Given the description of an element on the screen output the (x, y) to click on. 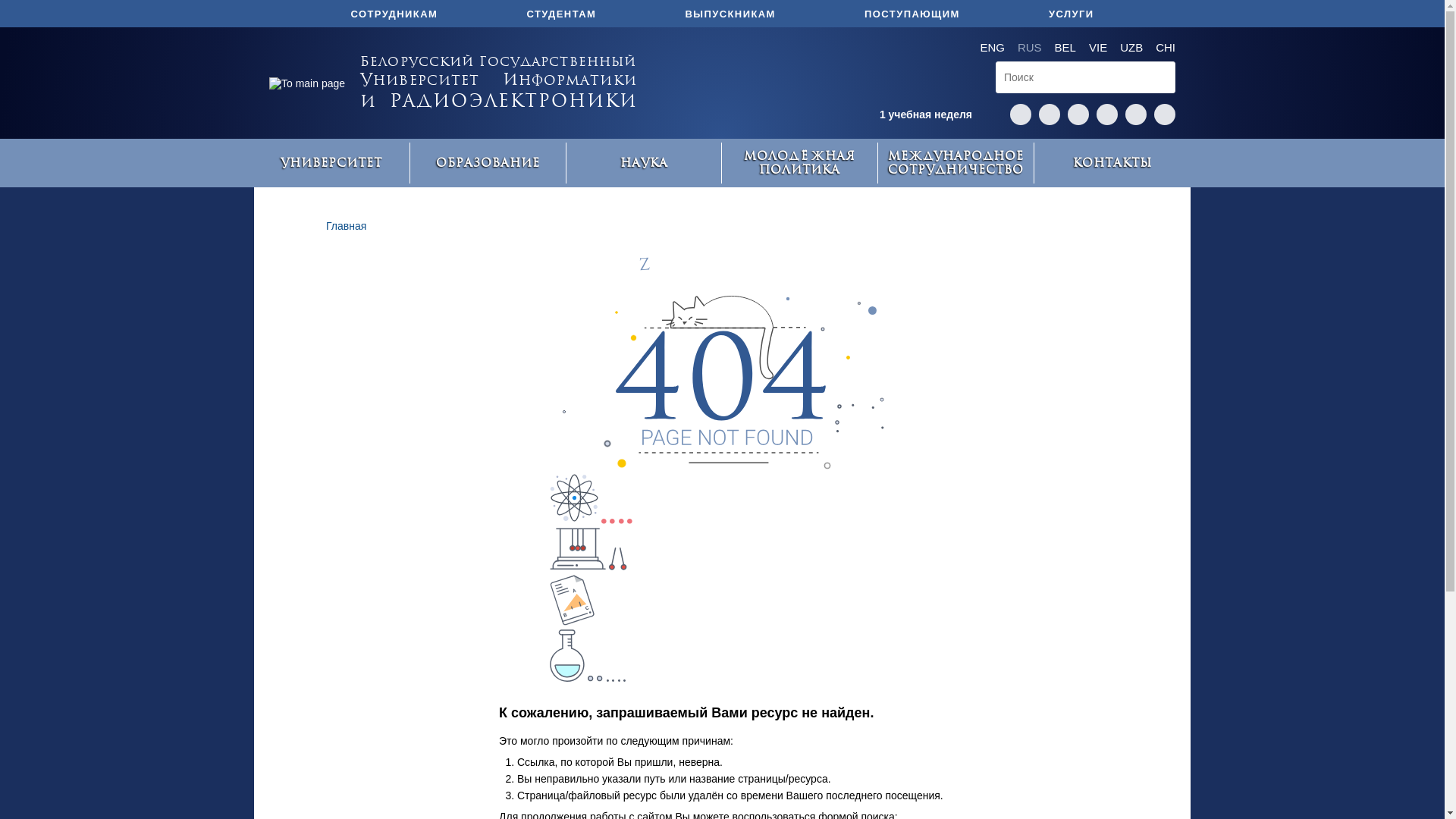
BEL Element type: text (1065, 46)
ENG Element type: text (991, 46)
UZB Element type: text (1131, 46)
CHI Element type: text (1165, 46)
VIE Element type: text (1097, 46)
